Given the description of an element on the screen output the (x, y) to click on. 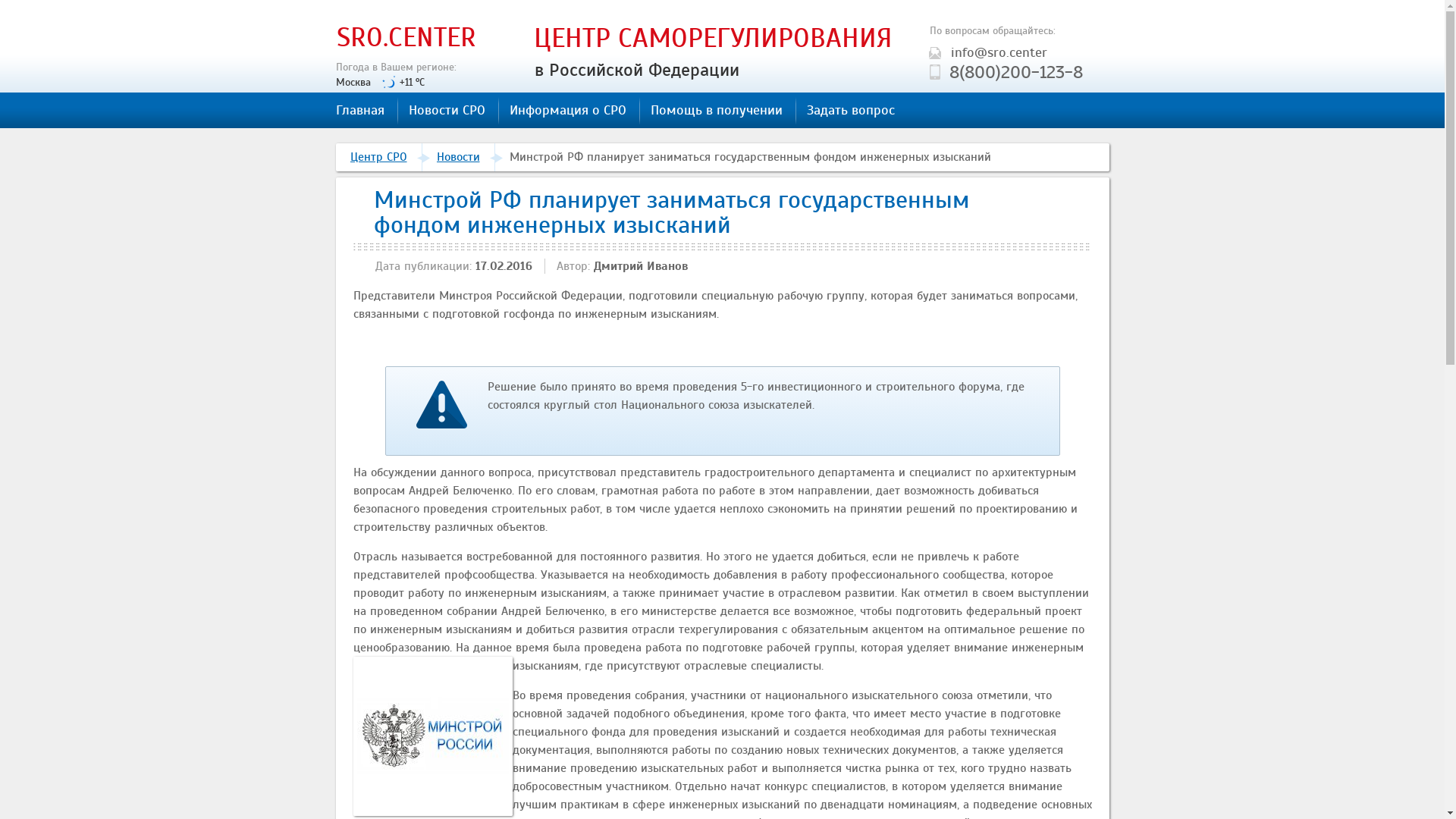
SRO.CENTER Element type: text (406, 36)
